Given the description of an element on the screen output the (x, y) to click on. 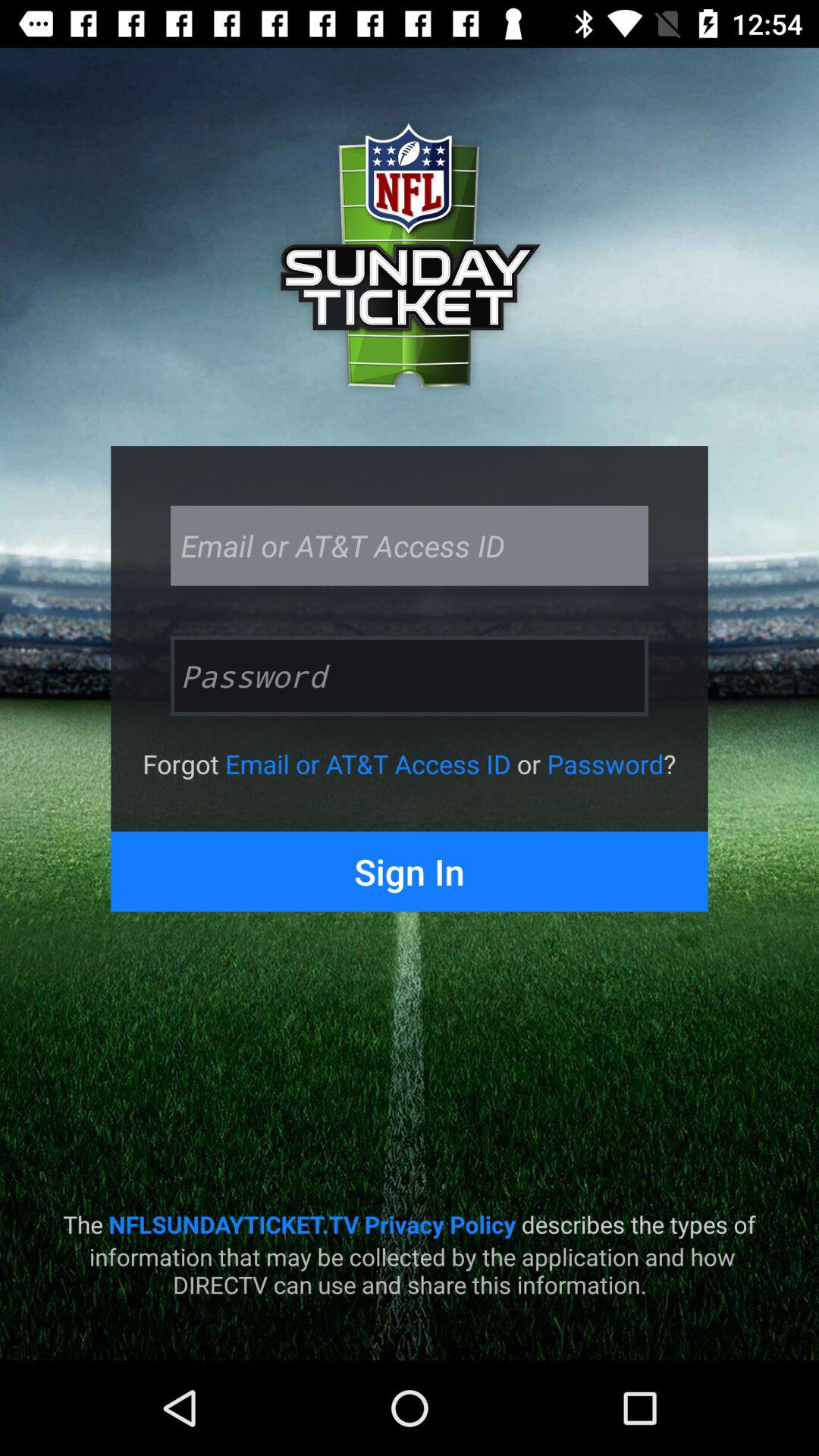
click the button on the right next to the text forgot on the web page (368, 763)
click on sign in (409, 871)
click on the password field (409, 676)
click on the email or att access id text field (409, 545)
